Given the description of an element on the screen output the (x, y) to click on. 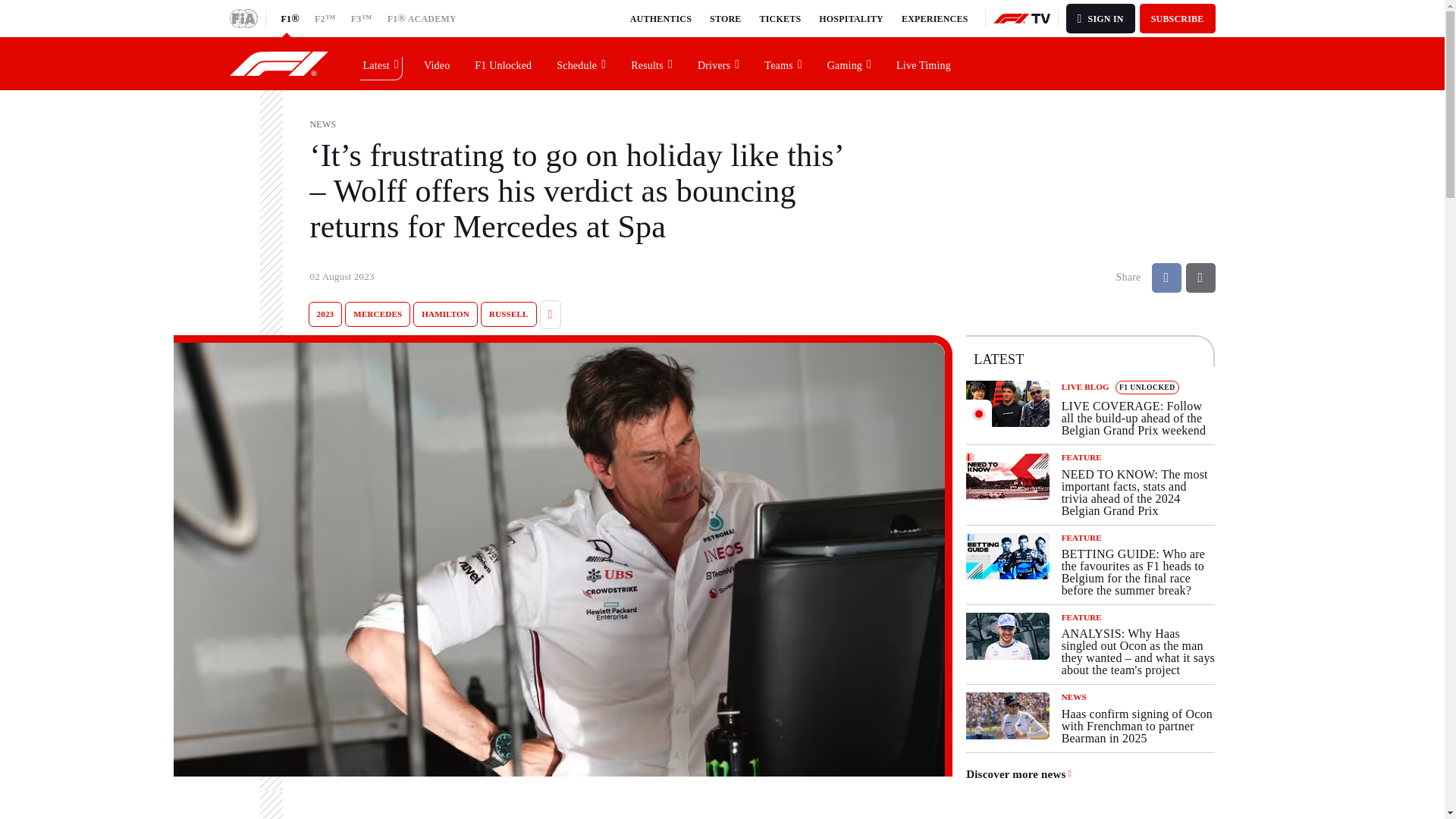
EXPERIENCES (934, 18)
Schedule (581, 63)
SUBSCRIBE (1177, 18)
Latest (380, 63)
Discover more news (1018, 774)
Results (651, 63)
F1 Unlocked (503, 63)
Drivers (718, 63)
Gaming (849, 63)
Video (437, 63)
STORE (725, 18)
HOSPITALITY (850, 18)
